Given the description of an element on the screen output the (x, y) to click on. 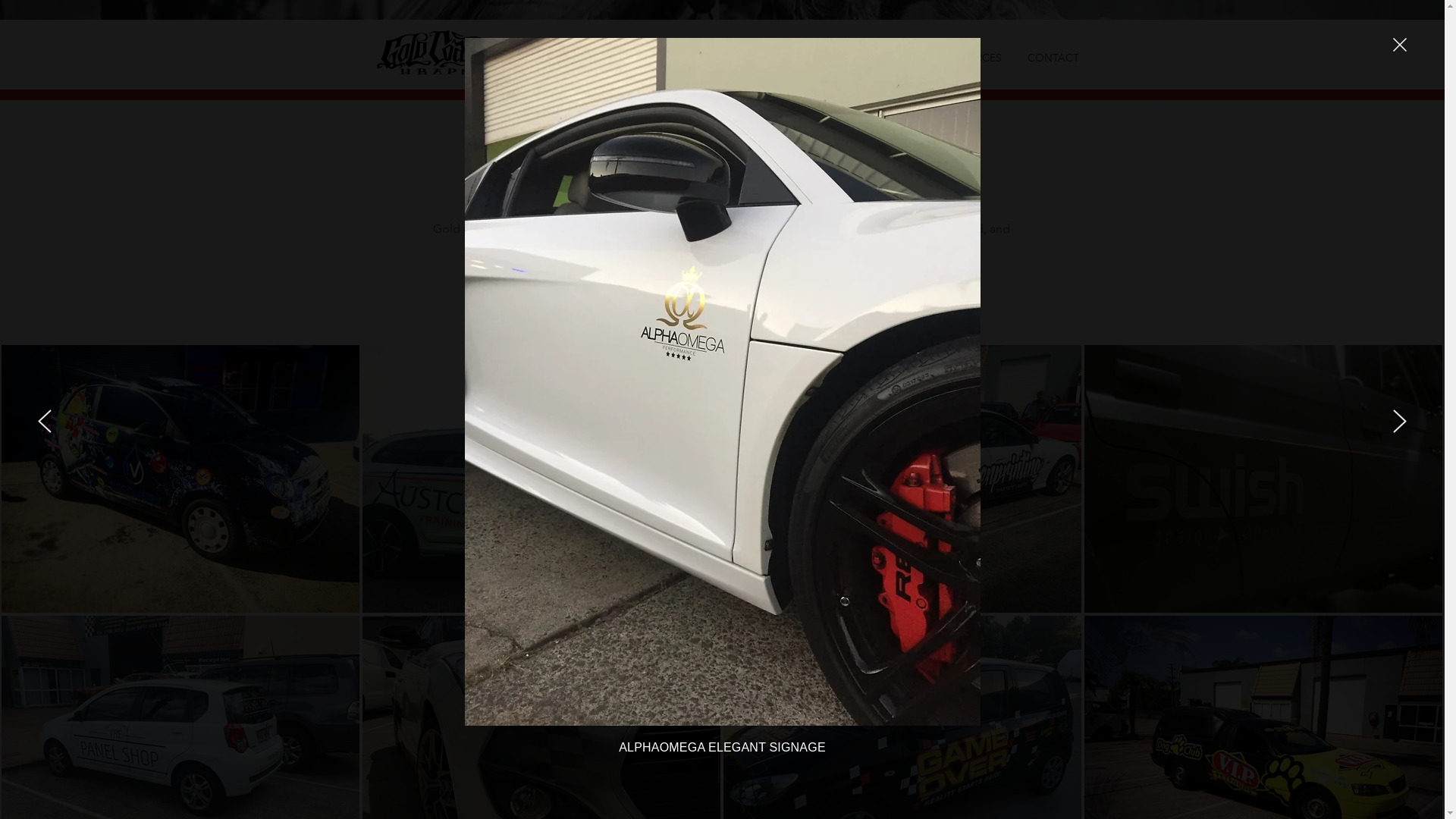
CUSTOM SERVICES Element type: text (868, 56)
COMMERCIAL SERVICES Element type: text (734, 56)
ABOUT US Element type: text (620, 56)
CONTACT Element type: text (1054, 56)
RESOURCES Element type: text (972, 56)
